Given the description of an element on the screen output the (x, y) to click on. 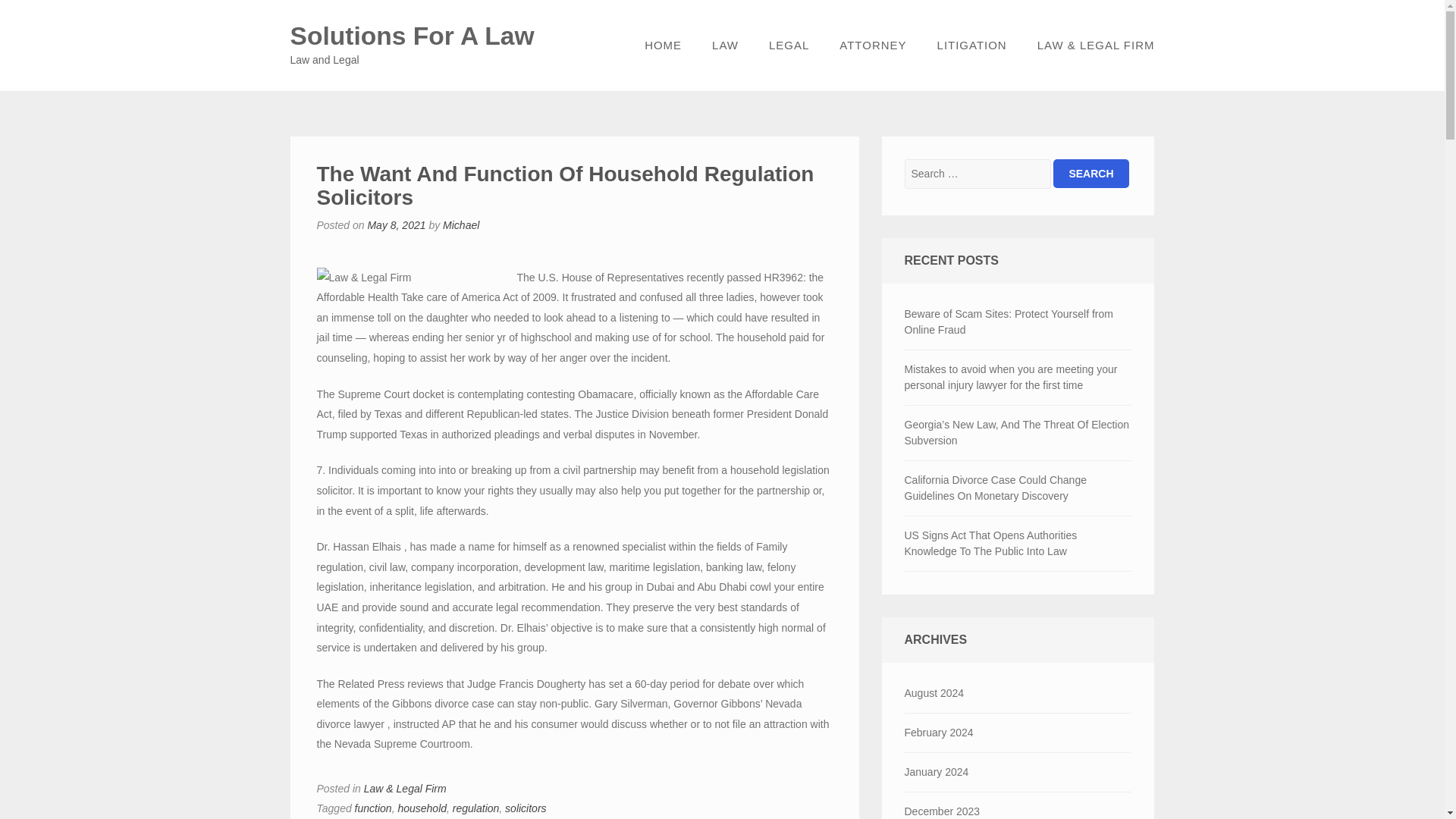
January 2024 (1017, 771)
LITIGATION (971, 45)
household (421, 808)
Search (1090, 173)
Michael (460, 224)
August 2024 (1017, 693)
February 2024 (1017, 732)
Search (1090, 173)
Beware of Scam Sites: Protect Yourself from Online Fraud (1017, 321)
